Given the description of an element on the screen output the (x, y) to click on. 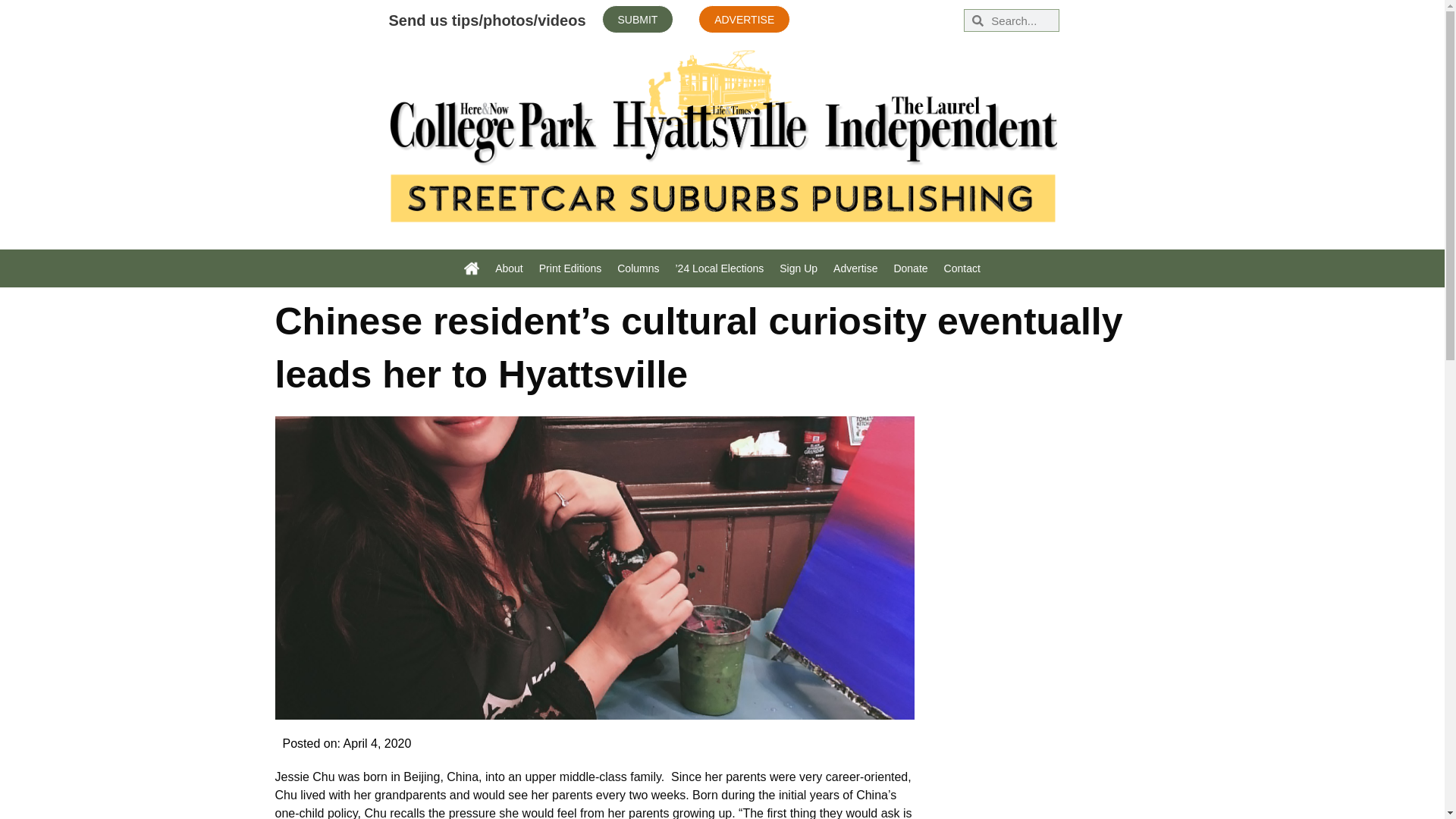
Columns (638, 268)
ADVERTISE (744, 18)
Contact (962, 268)
Advertise (855, 268)
SUBMIT (638, 18)
About (509, 268)
Sign Up (798, 268)
Donate (909, 268)
Print Editions (569, 268)
